Given the description of an element on the screen output the (x, y) to click on. 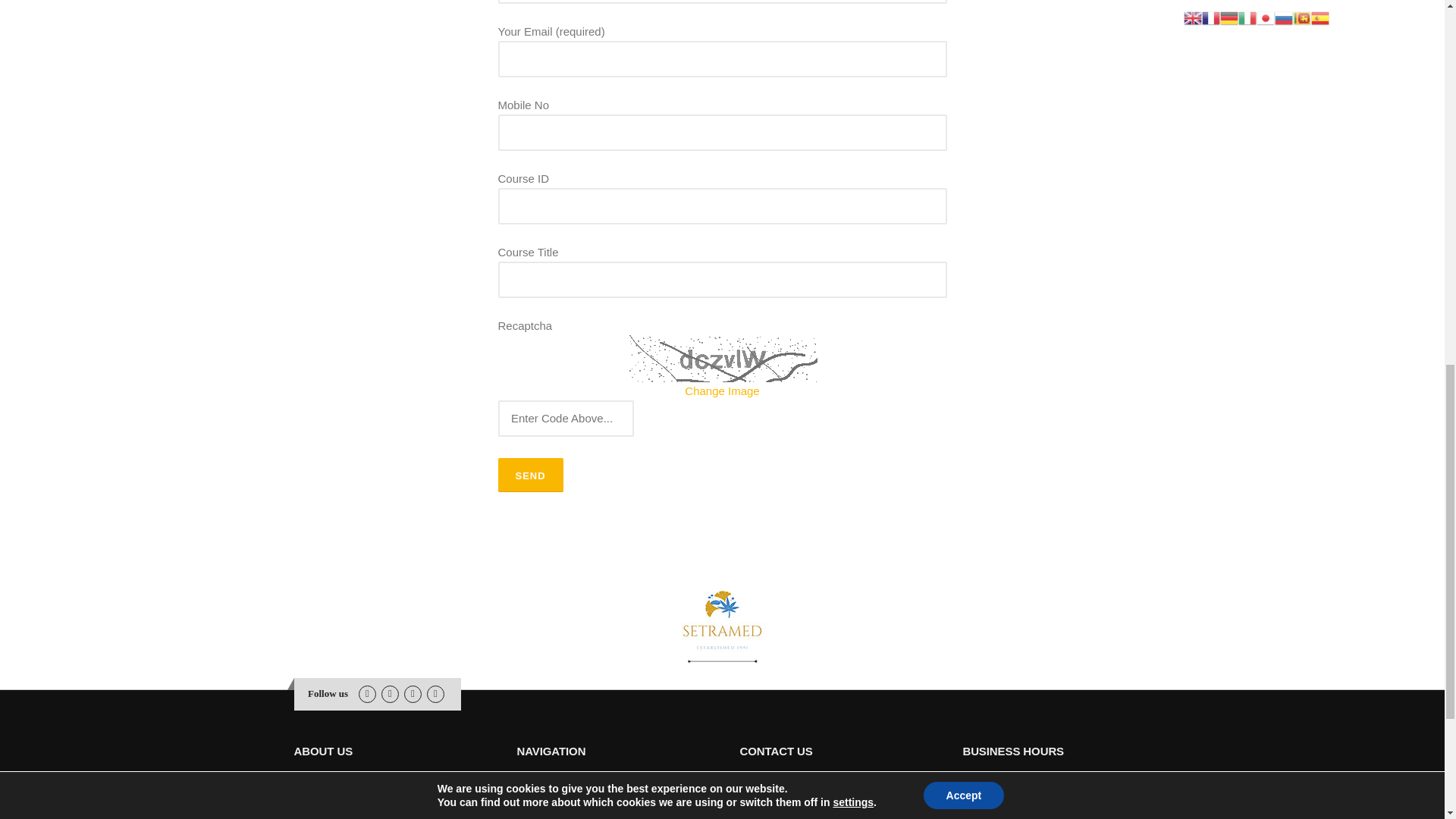
Twitter (435, 693)
Send (529, 474)
Instagram (389, 693)
Change Image (721, 390)
Facebook (366, 693)
Send (529, 474)
Youtube (413, 693)
